Given the description of an element on the screen output the (x, y) to click on. 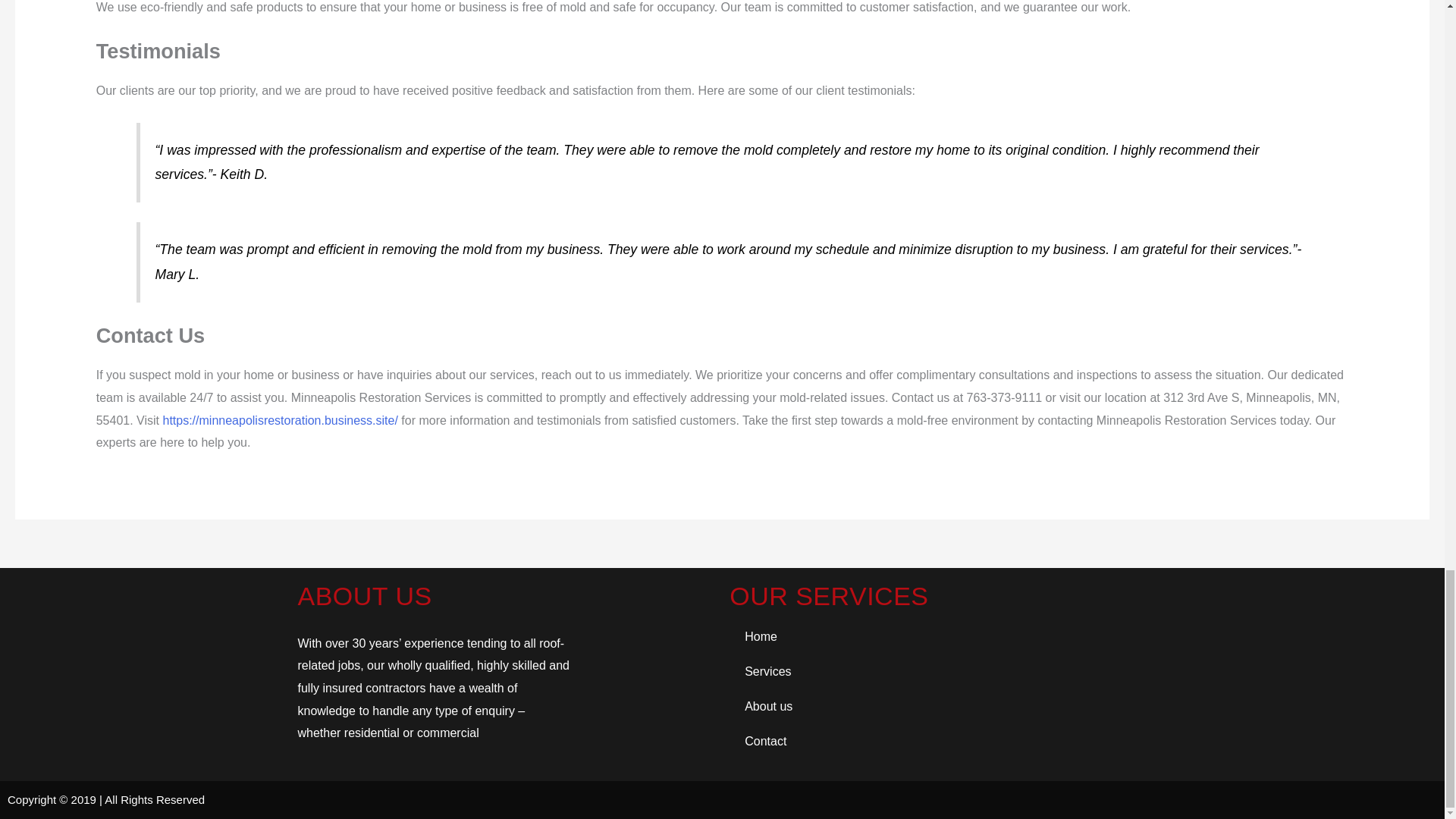
About us (938, 706)
Contact (938, 741)
Home (938, 636)
Services (938, 671)
